Given the description of an element on the screen output the (x, y) to click on. 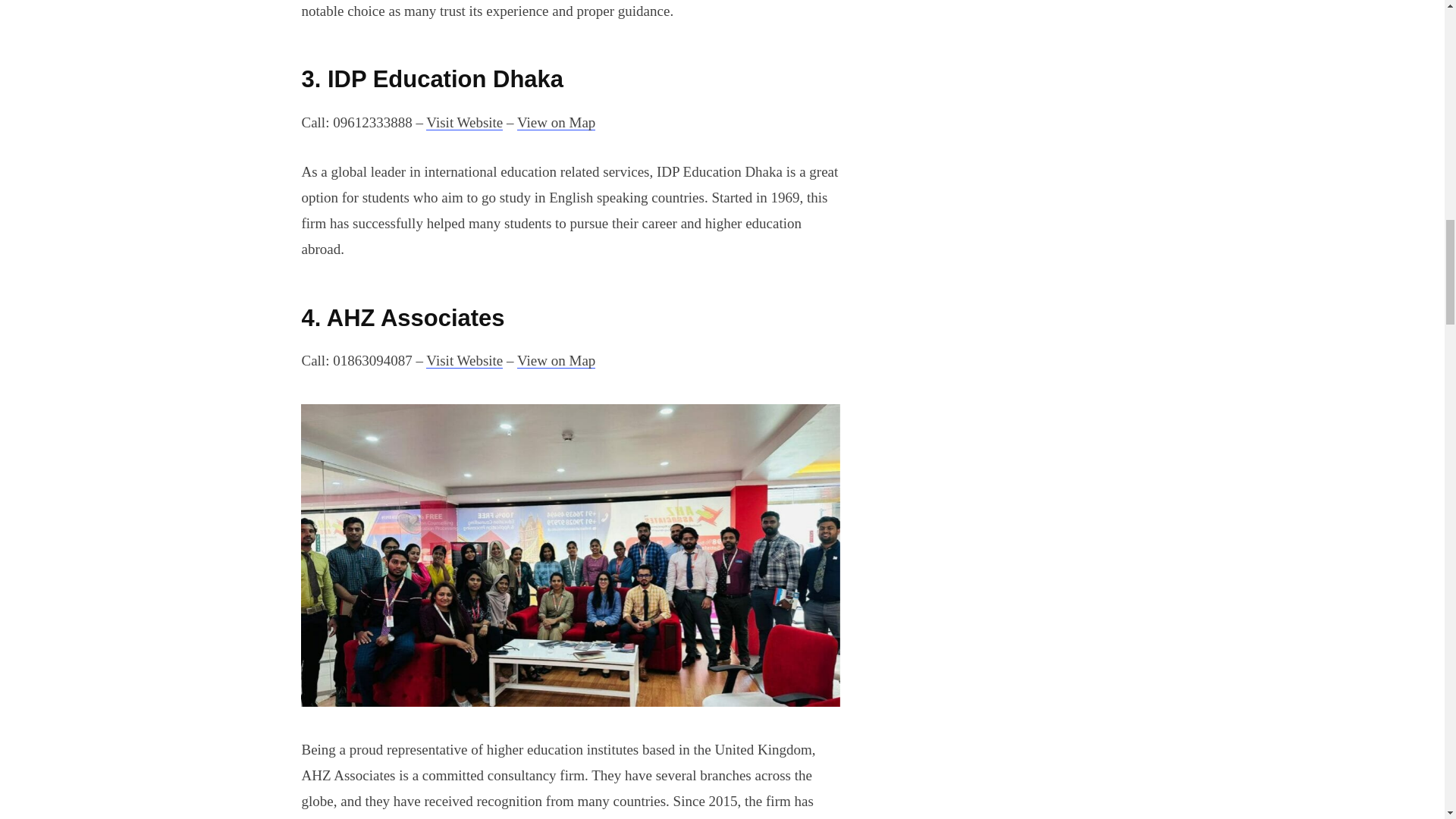
Visit Website (464, 360)
View on Map (555, 360)
Visit Website (464, 122)
View on Map (555, 122)
